Given the description of an element on the screen output the (x, y) to click on. 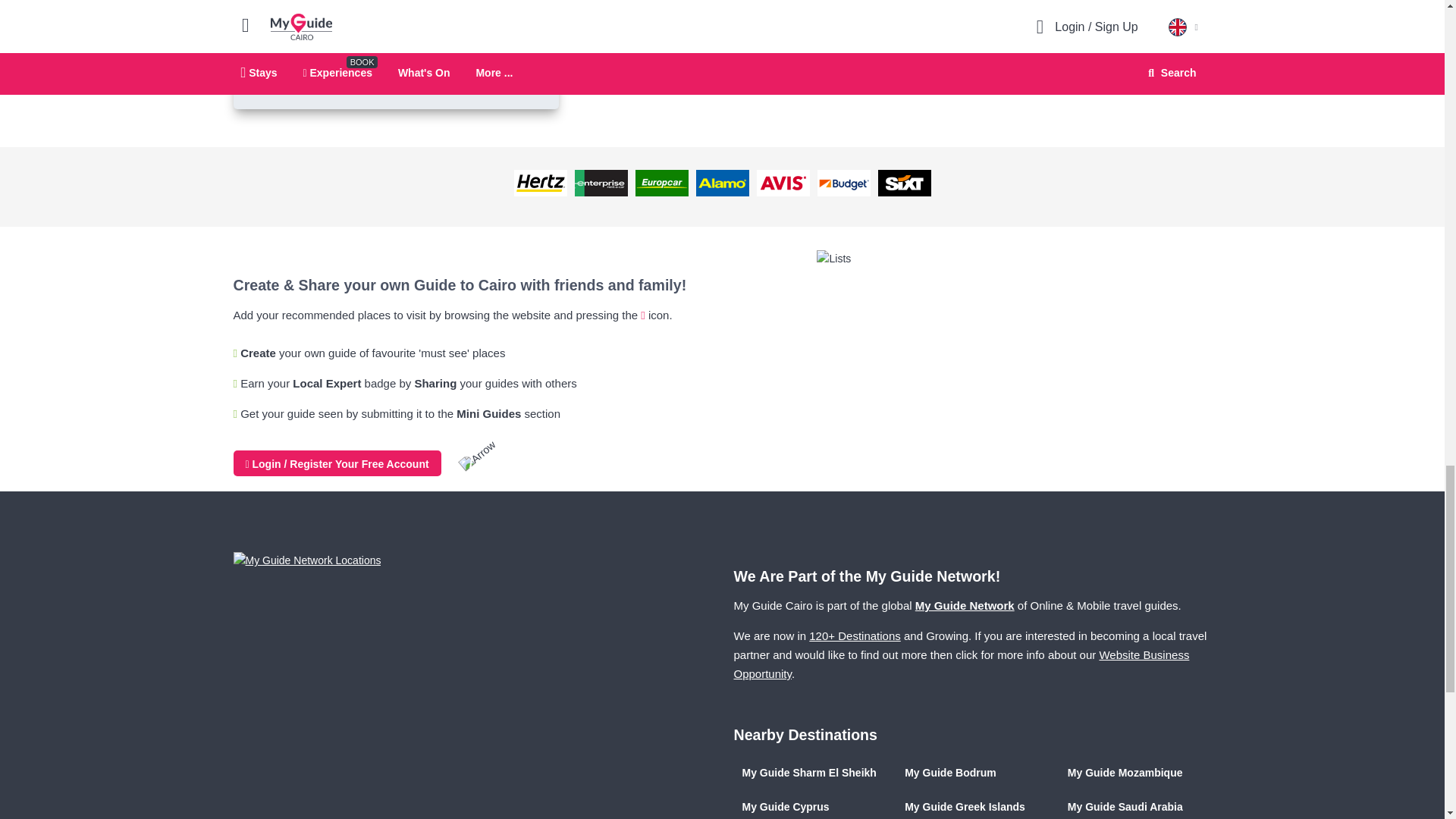
on (271, 24)
